Given the description of an element on the screen output the (x, y) to click on. 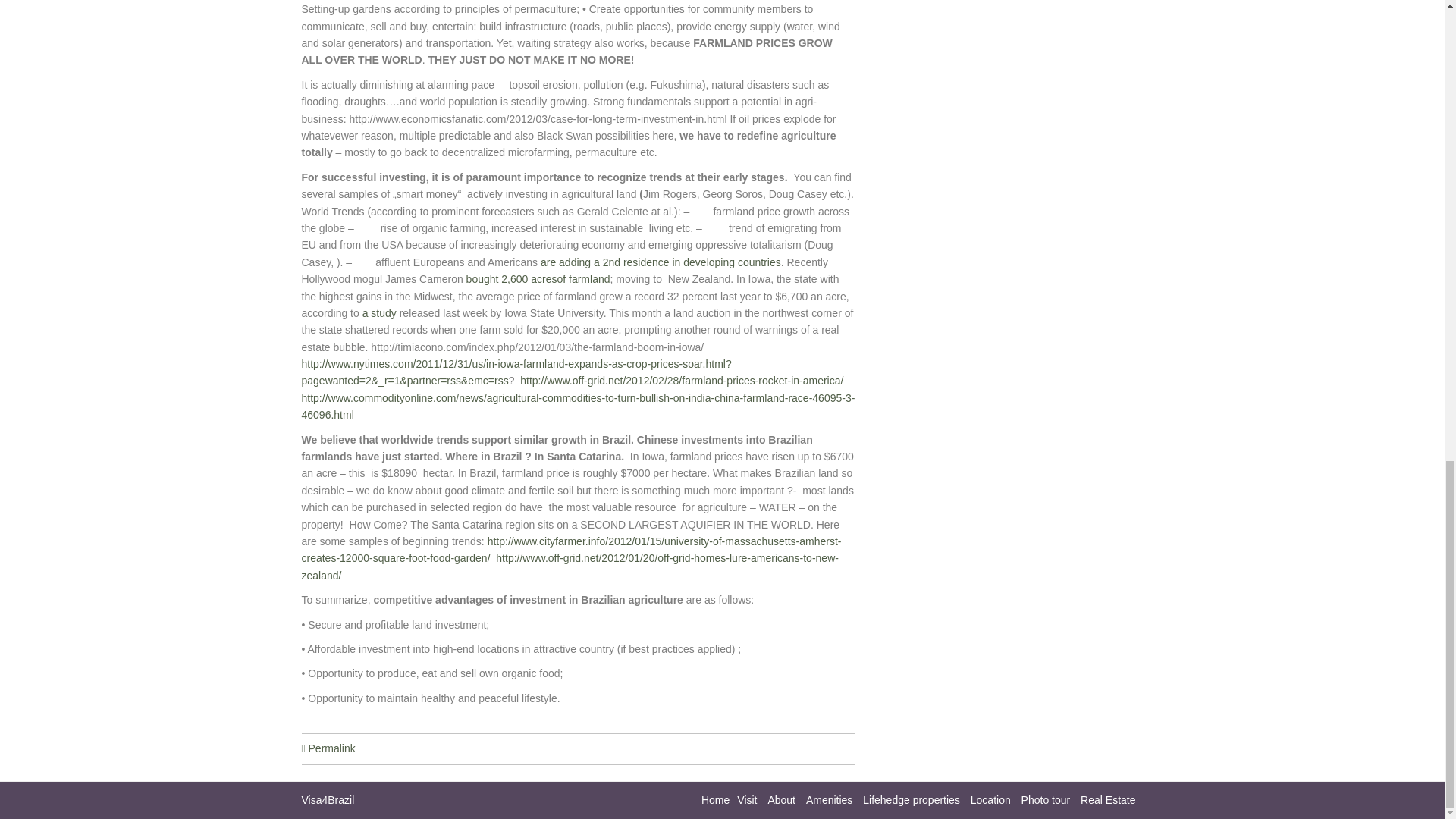
a study (379, 313)
are adding a 2nd residence in developing countries (660, 262)
bought 2,600 acresof farmland (536, 278)
